Given the description of an element on the screen output the (x, y) to click on. 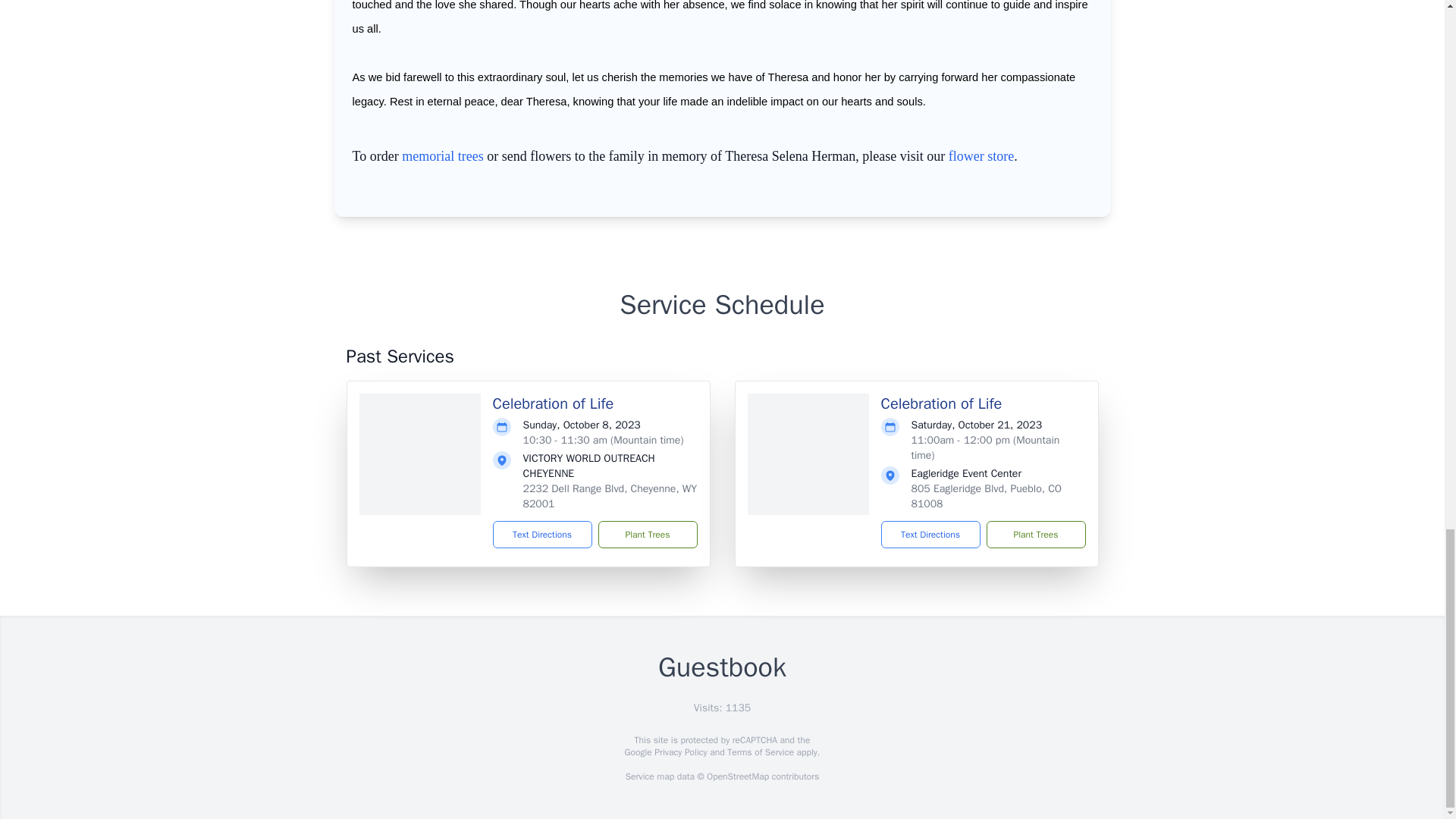
flower store (981, 155)
Privacy Policy (679, 752)
Terms of Service (759, 752)
memorial trees (442, 155)
Plant Trees (646, 533)
805 Eagleridge Blvd, Pueblo, CO 81008 (986, 496)
OpenStreetMap (737, 776)
Plant Trees (1034, 533)
2232 Dell Range Blvd, Cheyenne, WY 82001 (609, 496)
Text Directions (929, 533)
